Given the description of an element on the screen output the (x, y) to click on. 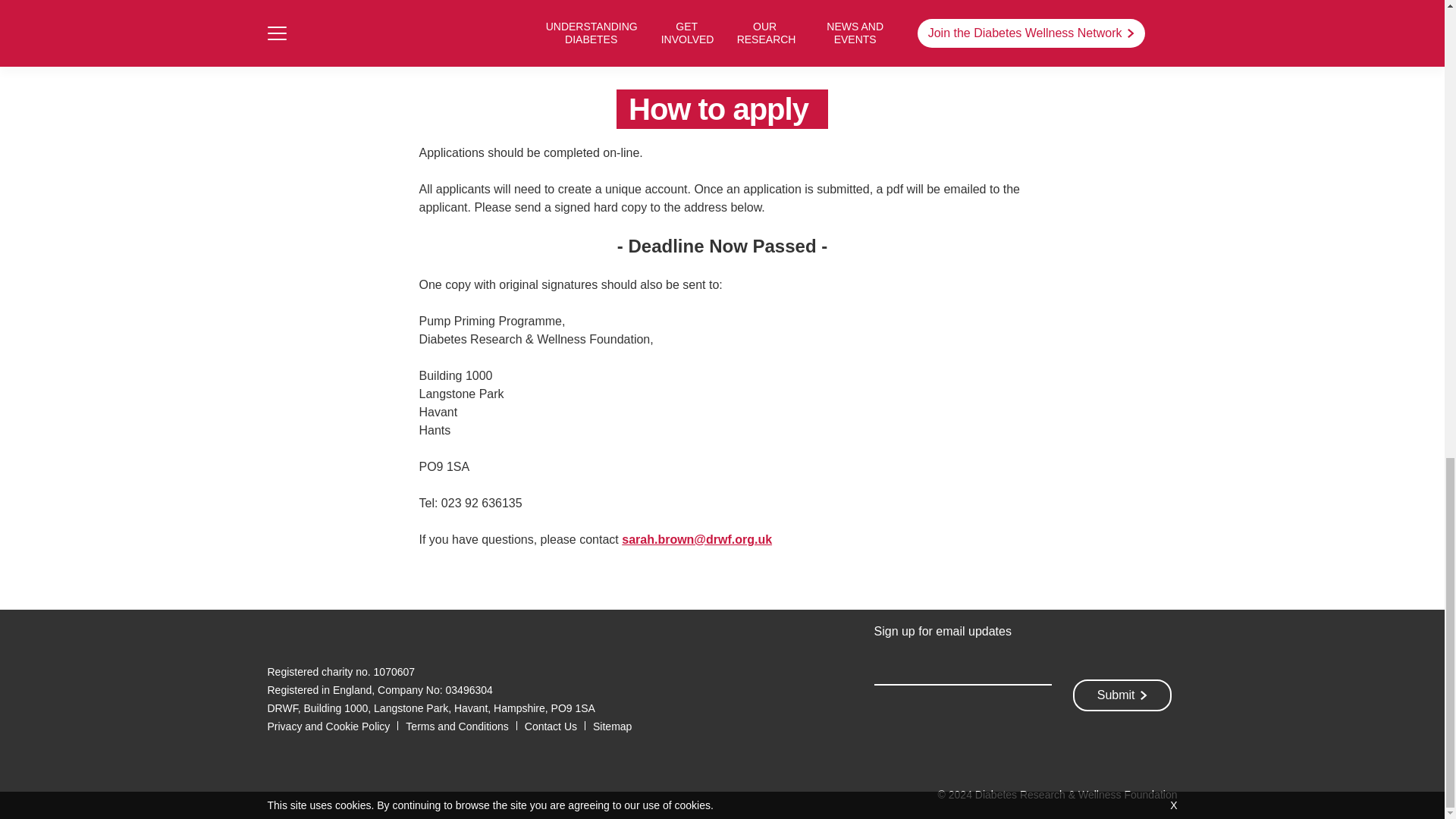
Submit (1122, 695)
YouTube (377, 635)
